Given the description of an element on the screen output the (x, y) to click on. 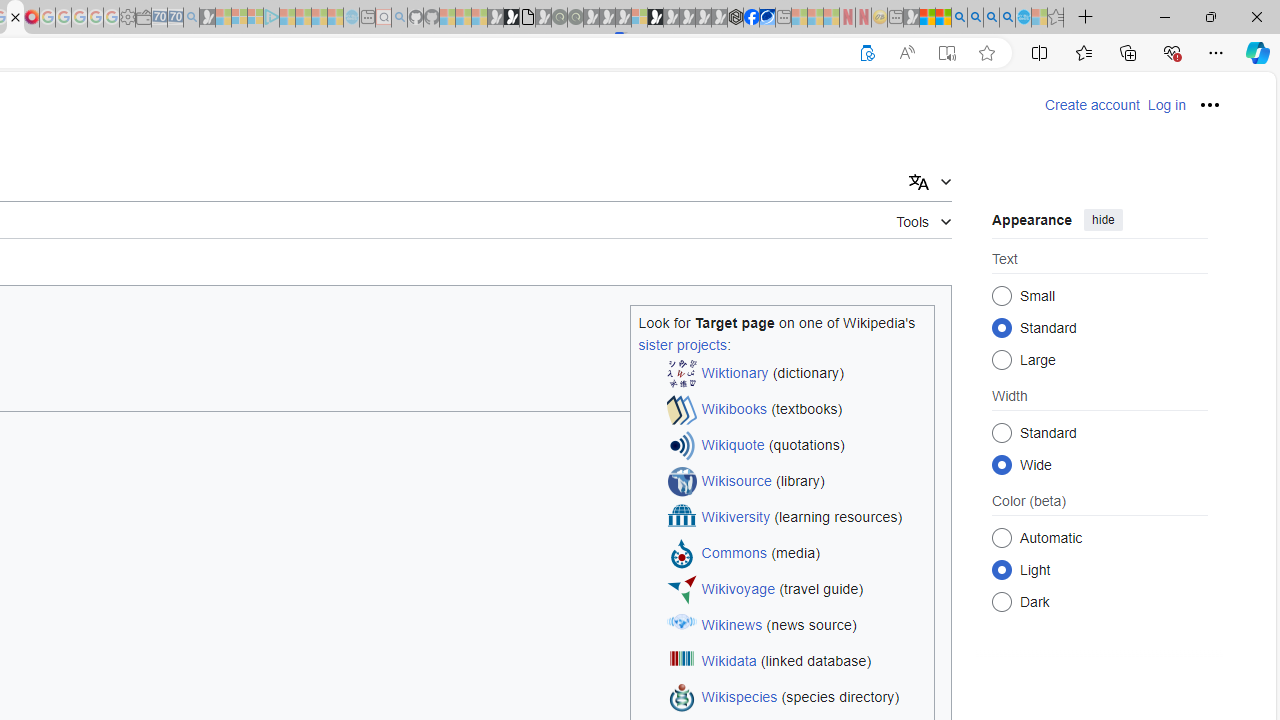
Log in (1166, 105)
Wikibooks (734, 409)
Wikidata (728, 661)
